Given the description of an element on the screen output the (x, y) to click on. 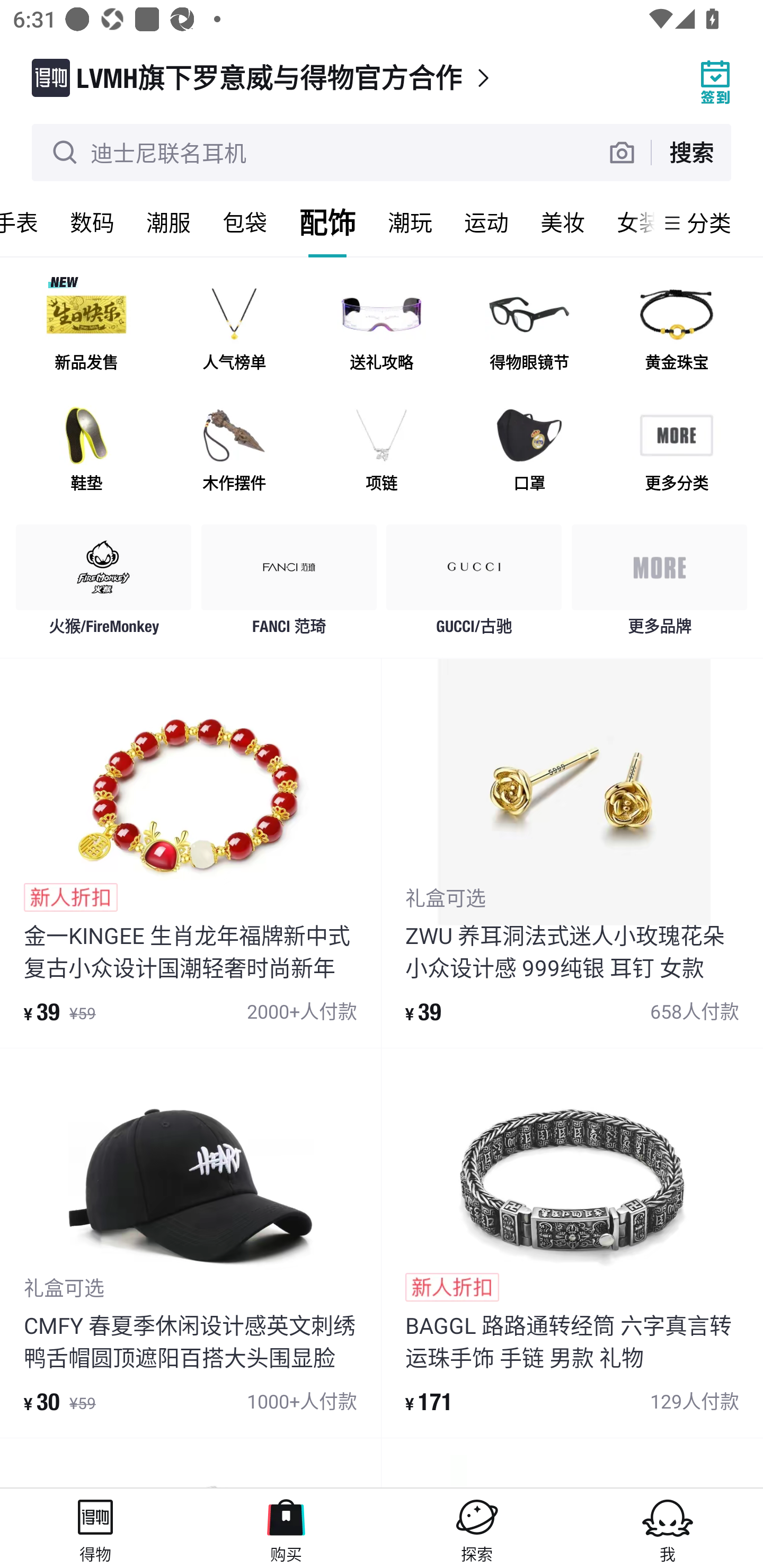
搜索 (690, 152)
手表 (27, 222)
数码 (92, 222)
潮服 (168, 222)
包袋 (244, 222)
配饰 (327, 222)
潮玩 (410, 222)
运动 (486, 222)
美妆 (562, 222)
女装 (627, 222)
分类 (708, 222)
新品发售 (86, 329)
人气榜单 (233, 329)
送礼攻略 (381, 329)
得物眼镜节 (528, 329)
黄金珠宝 (676, 329)
鞋垫 (86, 450)
木作摆件 (233, 450)
项链 (381, 450)
口罩 (528, 450)
更多分类 (676, 450)
火猴/FireMonkey (103, 583)
FANCI 范琦 (288, 583)
GUCCI/古驰 (473, 583)
更多品牌 (658, 583)
得物 (95, 1528)
购买 (285, 1528)
探索 (476, 1528)
我 (667, 1528)
